Given the description of an element on the screen output the (x, y) to click on. 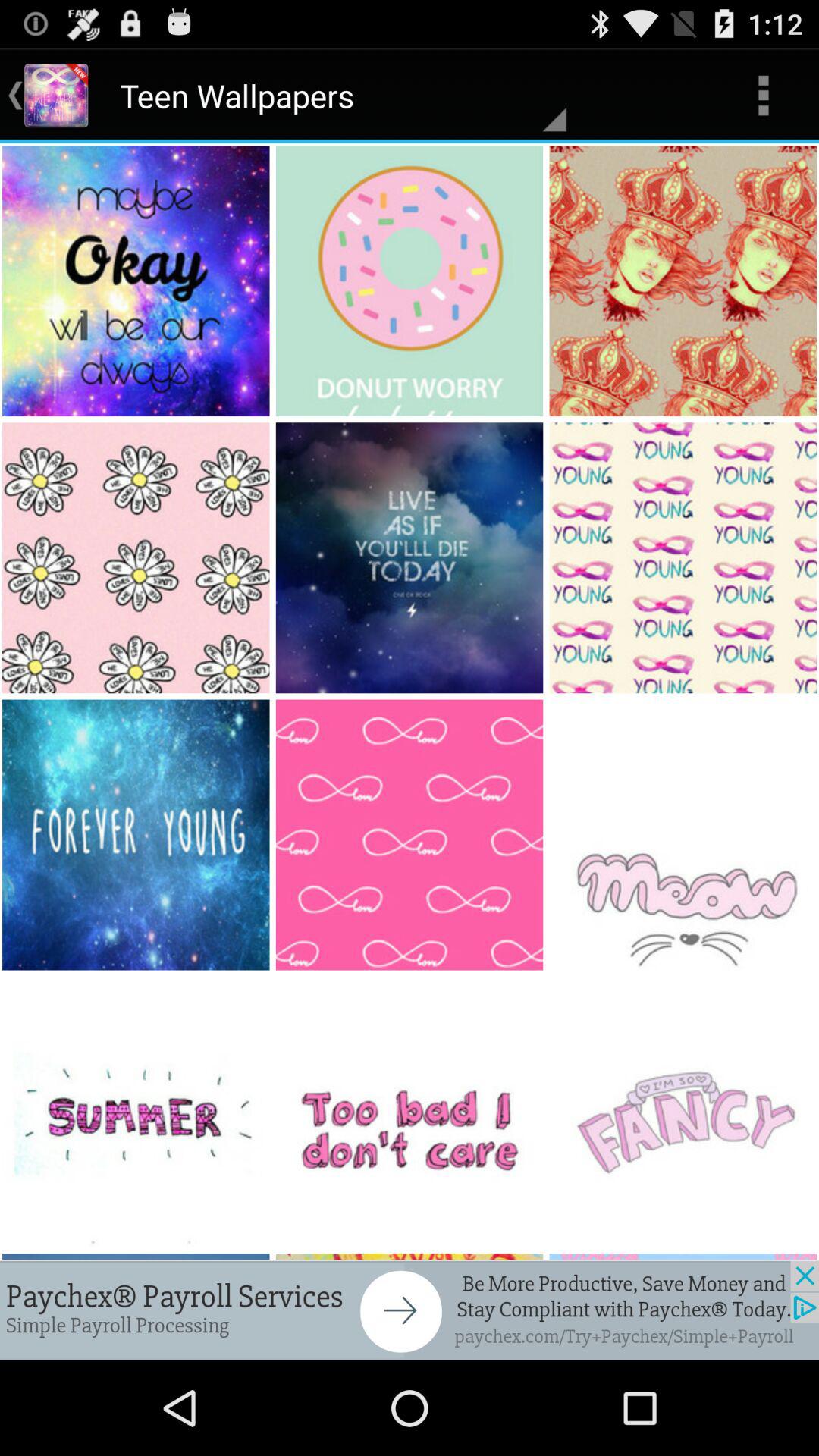
select the image  from the bottom left (136, 835)
select the image from bottom right corner (684, 835)
click on second image in third row from left (410, 835)
click on second image in third row from left (410, 835)
click on first image in second column from top (410, 280)
click on the 1st image in the 2nd row below teen wallpapers (136, 557)
click on the button which is at the top right corner of the page (763, 95)
select the image which says fancy which is on bottom right of the page (684, 1111)
click on the image below 3 vertical dots at the top right corner of the web page (684, 280)
select  teen wallpapers (335, 95)
select the fifth image (410, 557)
select the image which says summer (136, 1111)
select the ninth image in the page (684, 835)
